Given the description of an element on the screen output the (x, y) to click on. 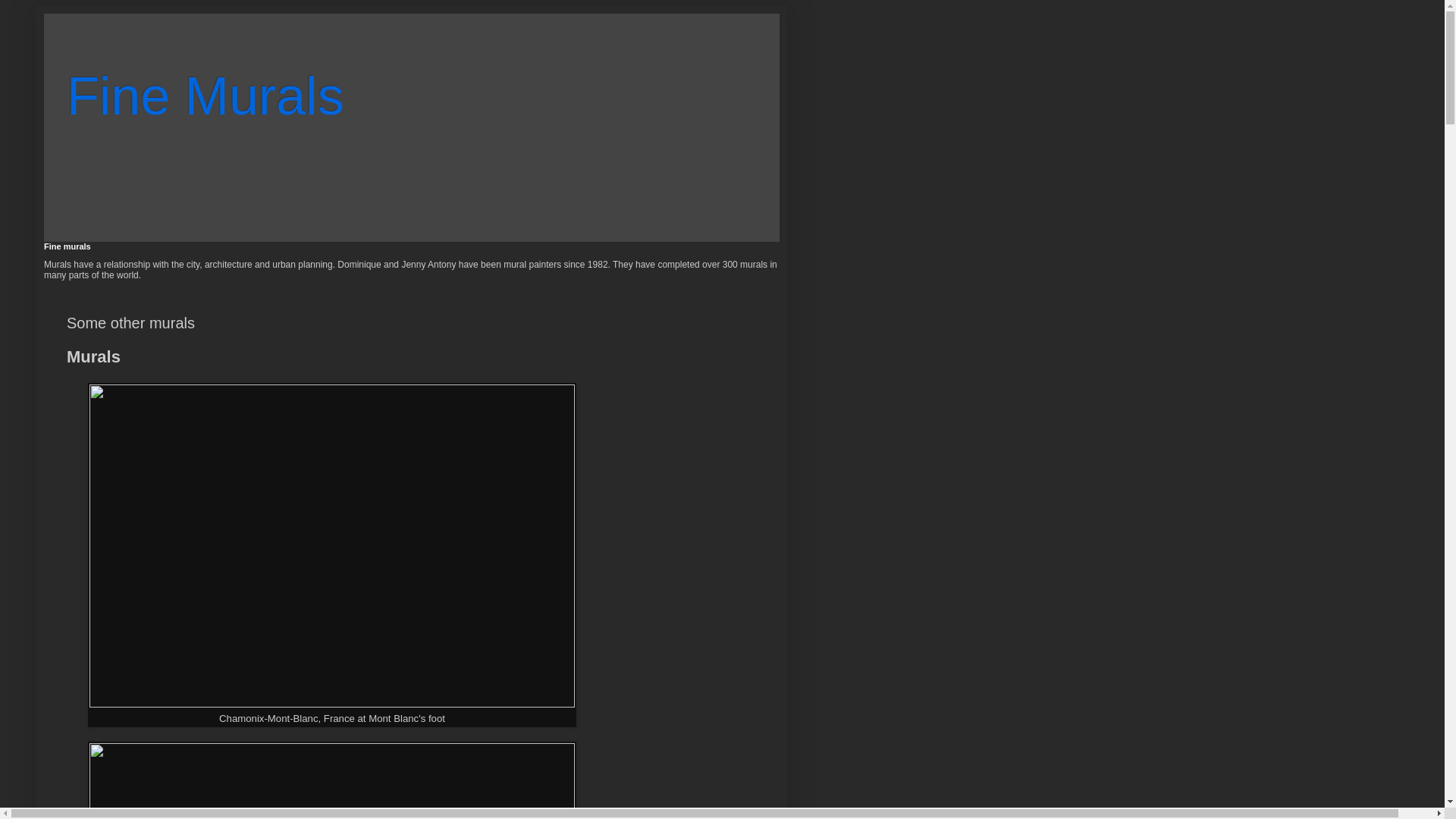
Fine Murals Element type: text (205, 95)
